Given the description of an element on the screen output the (x, y) to click on. 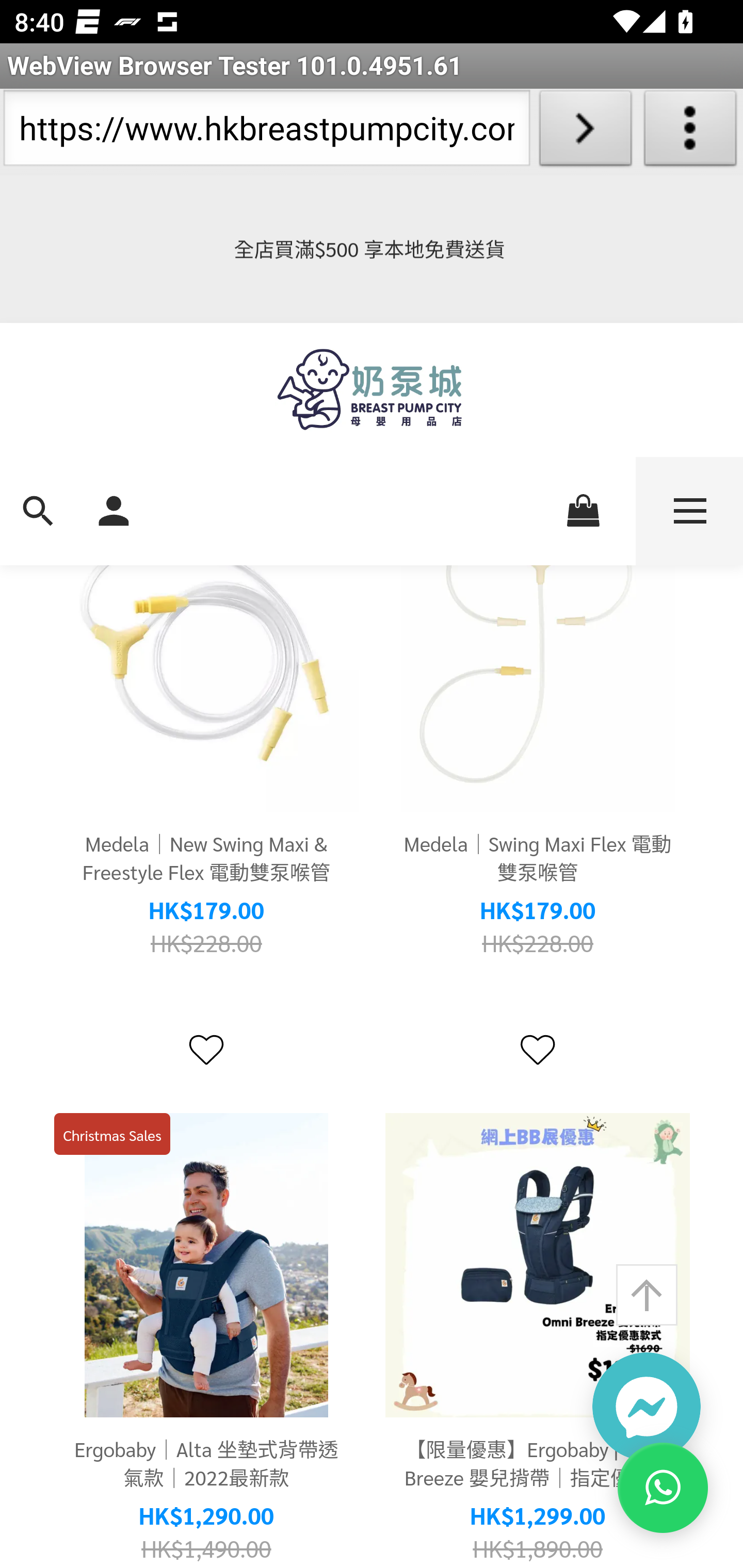
https://www.hkbreastpumpcity.com/ (266, 132)
Load URL (585, 132)
About WebView (690, 132)
全店買滿$500 享本地免費送貨  (371, 249)
594x (371, 390)
Medela｜New Swing Maxi &amp; Freestyle Flex 電動雙泵喉管 (206, 660)
Medela｜Swing Maxi Flex 電動雙泵喉管 (537, 660)
Medela｜New Swing Maxi & Freestyle Flex 電動雙泵喉管 (206, 858)
Medela｜Swing Maxi Flex 電動雙泵喉管 (537, 858)
HK$179.00 (206, 910)
HK$179.00 (537, 910)
HK$228.00 (206, 944)
HK$228.00 (537, 944)
 (206, 1051)
 (537, 1051)
Ergobaby｜Alta 坐墊式背帶透氣款｜2022最新款 (206, 1266)
【限量優惠】Ergobaby | Omni Breeze 嬰兒揹帶｜指定優惠款式 (537, 1266)
Christmas Sales (111, 1135)
Ergobaby｜Alta 坐墊式背帶透氣款｜2022最新款 (206, 1464)
【限量優惠】Ergobaby | Omni Breeze 嬰兒揹帶｜指定優惠款式 (537, 1464)
HK$1,290.00 (206, 1517)
HK$1,299.00 (537, 1517)
HK$1,490.00 (206, 1549)
HK$1,890.00 (537, 1549)
